Given the description of an element on the screen output the (x, y) to click on. 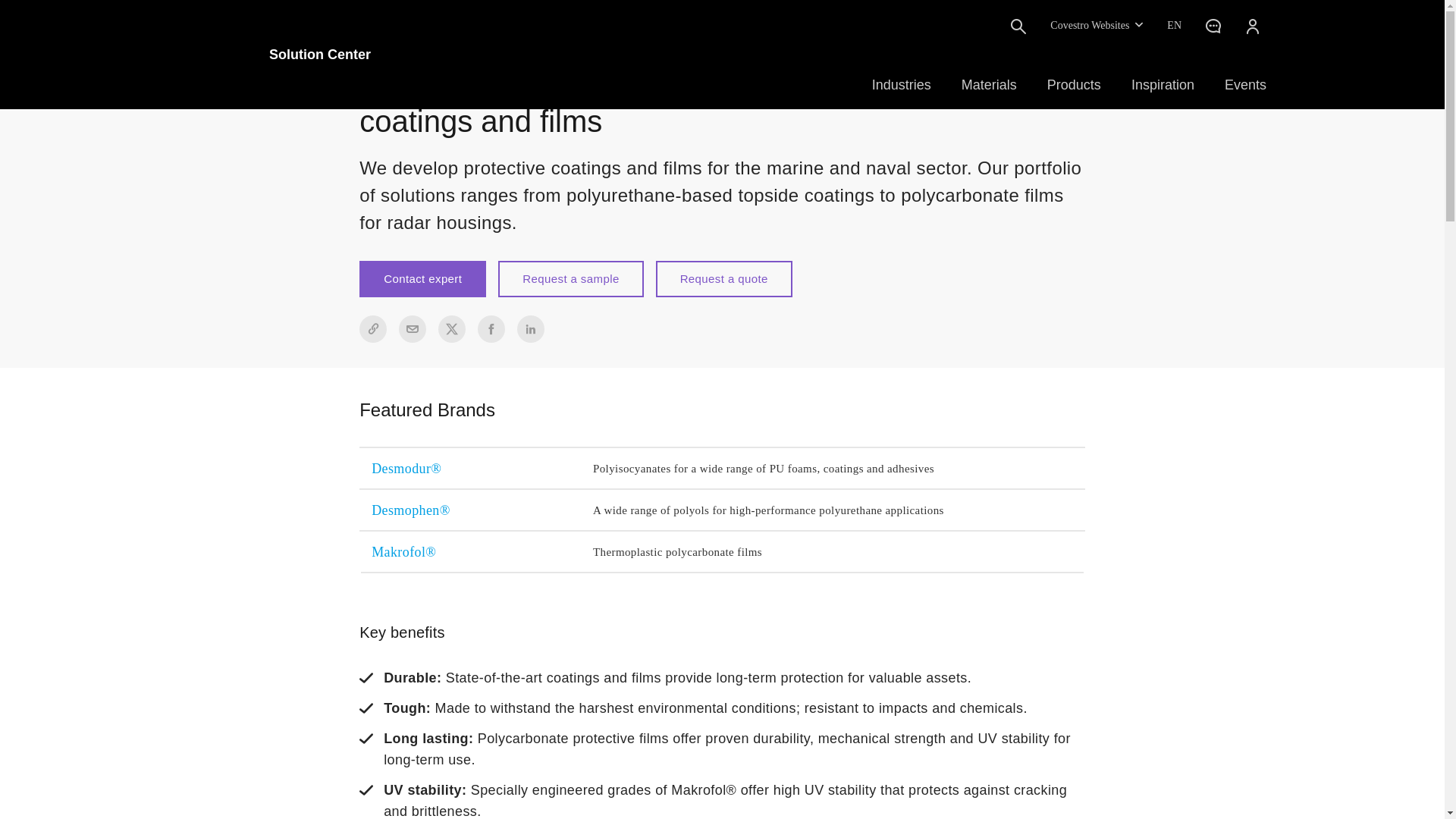
Products (1074, 85)
Solution Center (274, 54)
Industries (901, 85)
Materials (988, 85)
